Given the description of an element on the screen output the (x, y) to click on. 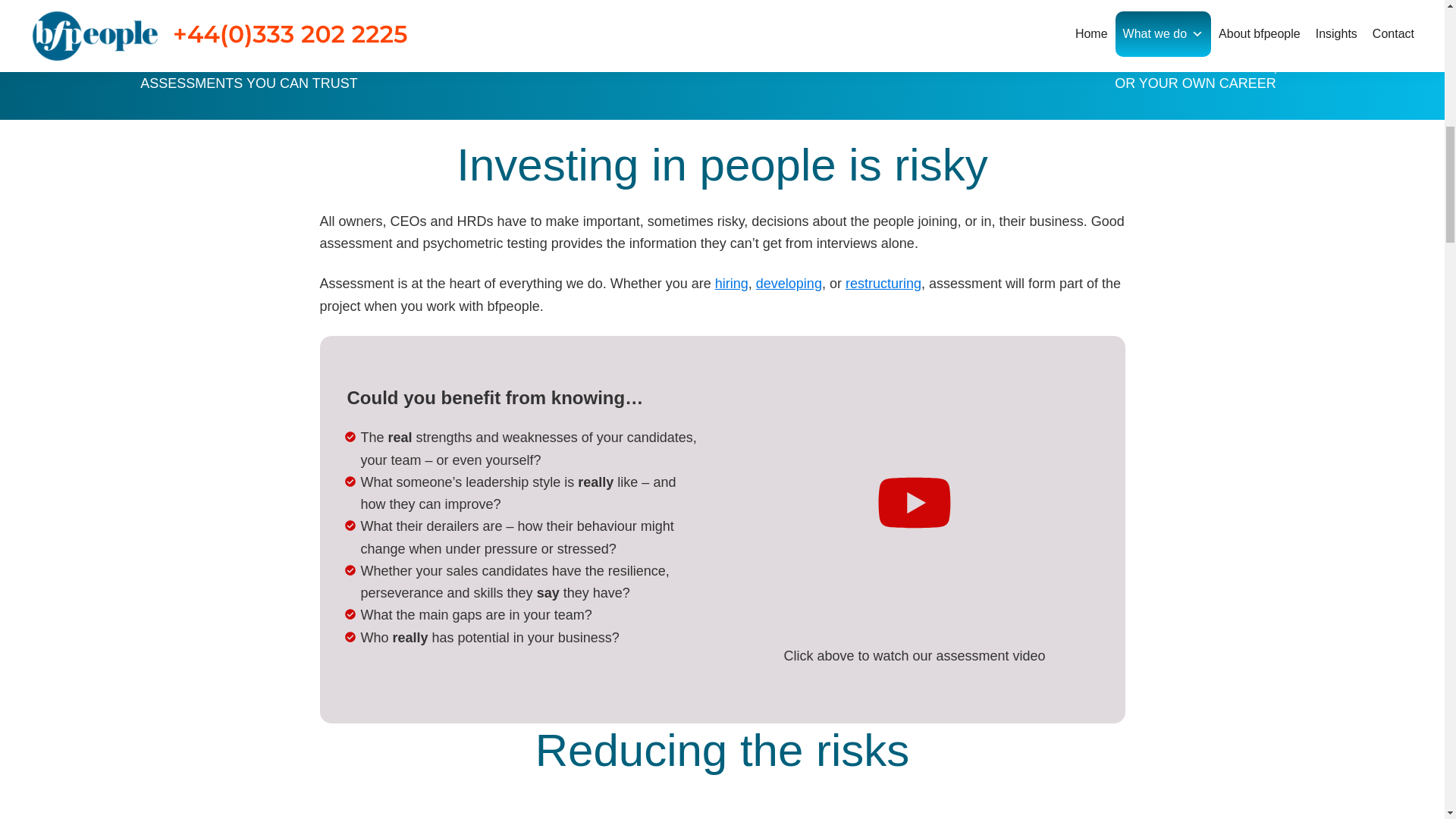
hiring (731, 283)
developing (788, 283)
restructuring (883, 283)
